Given the description of an element on the screen output the (x, y) to click on. 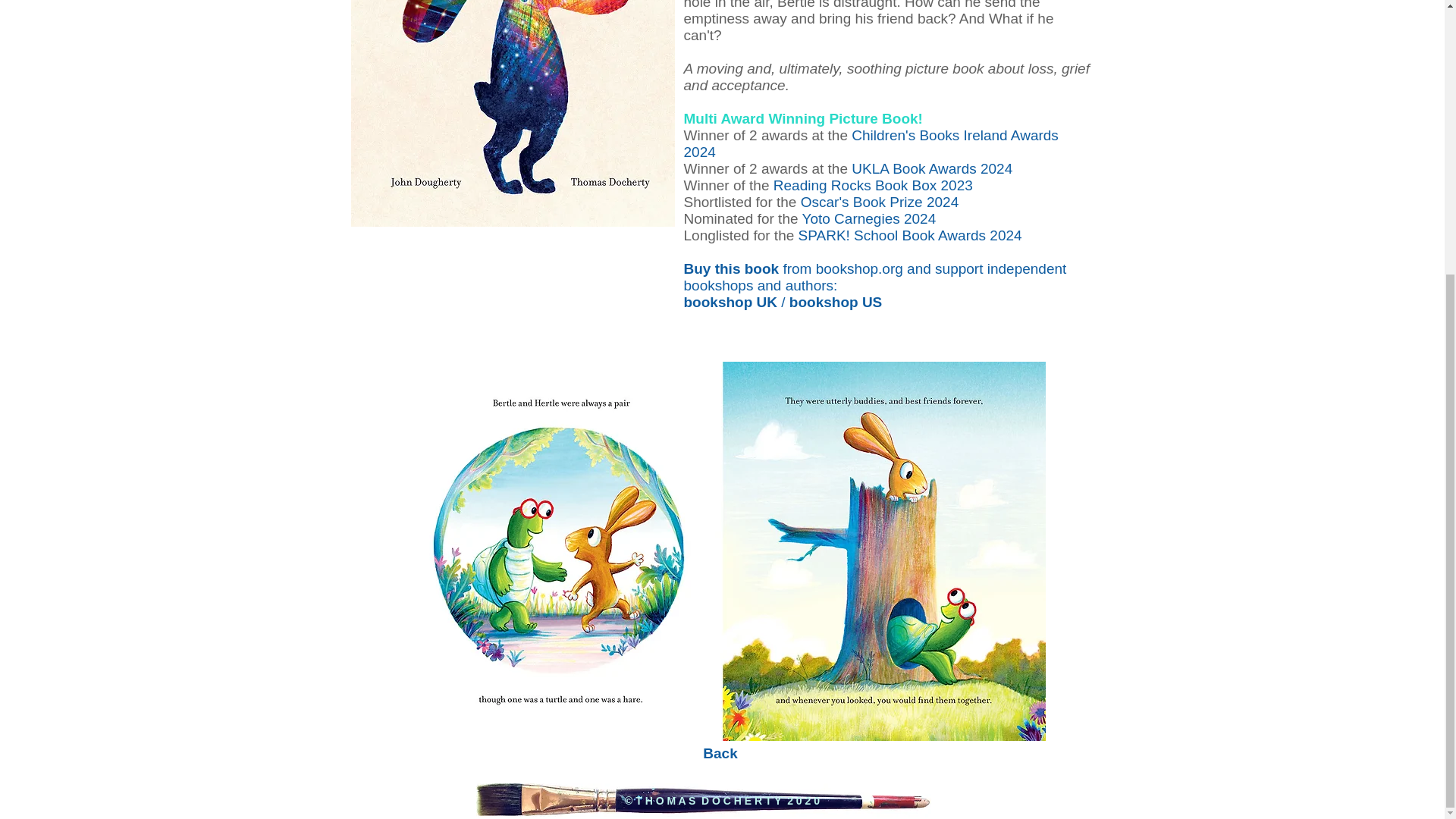
Back (719, 753)
bookshop UK (730, 302)
bookshop US (835, 302)
